Given the description of an element on the screen output the (x, y) to click on. 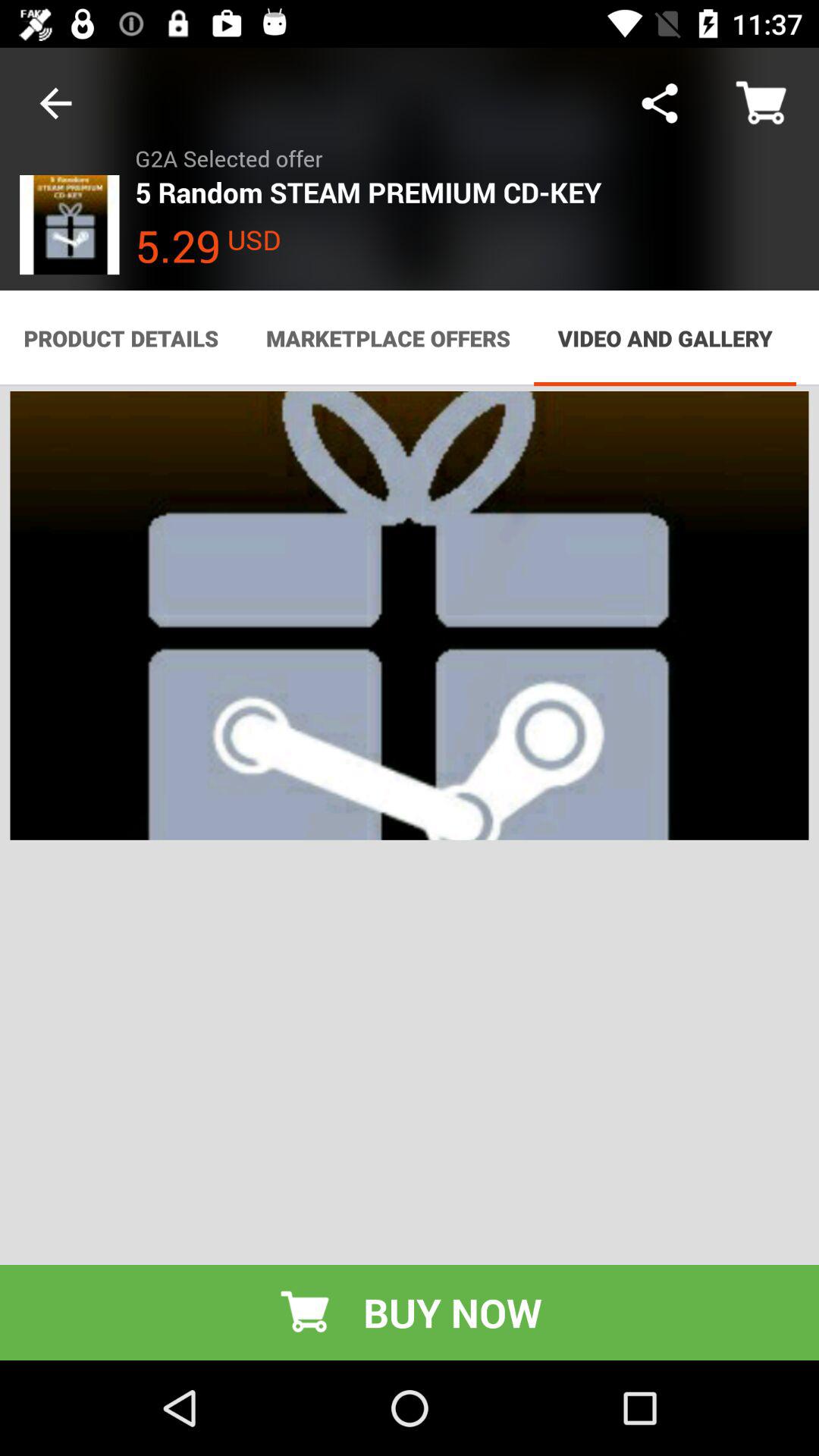
choose icon above 5 random steam item (659, 103)
